Given the description of an element on the screen output the (x, y) to click on. 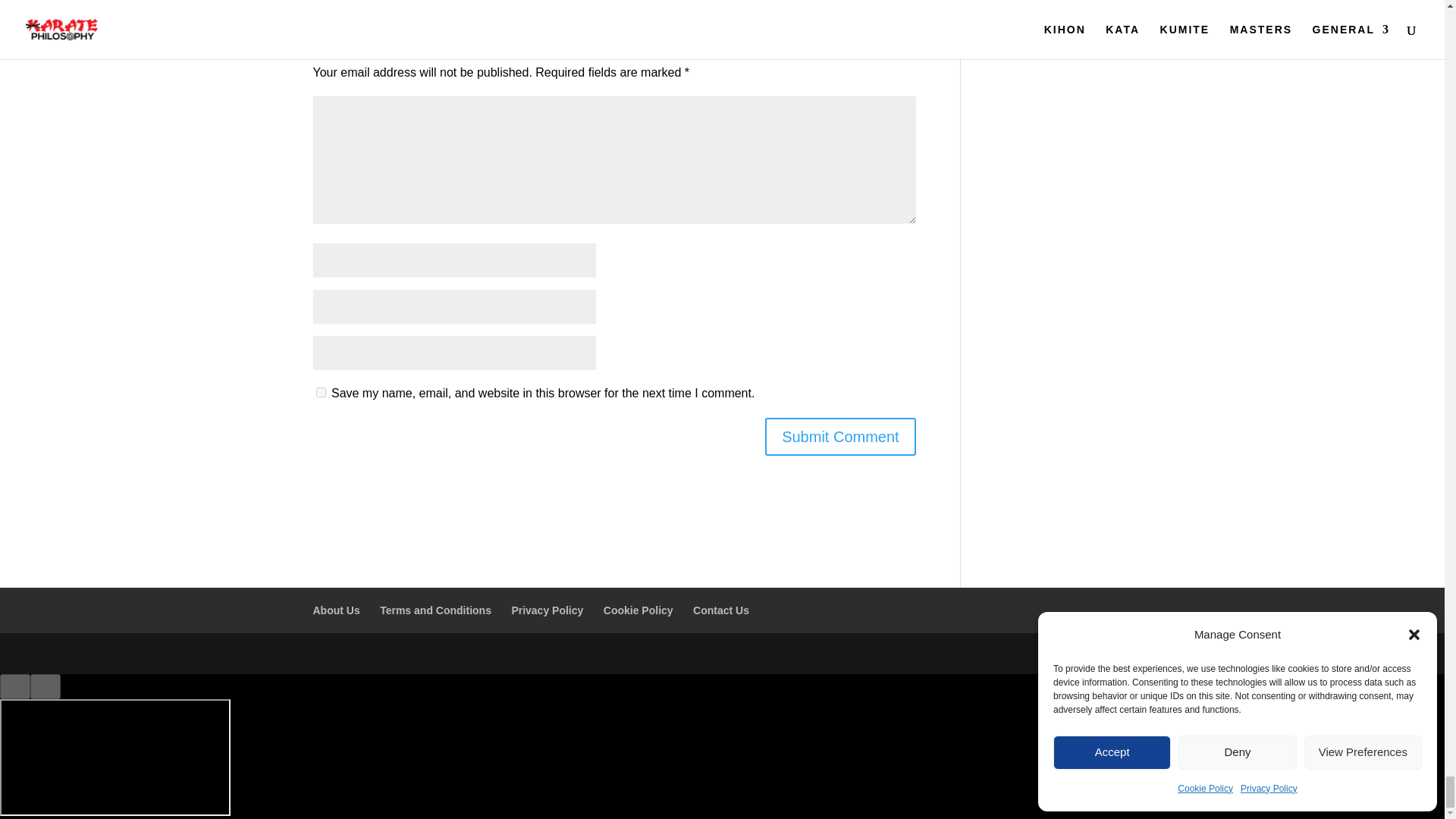
Submit Comment (840, 436)
yes (319, 392)
